Given the description of an element on the screen output the (x, y) to click on. 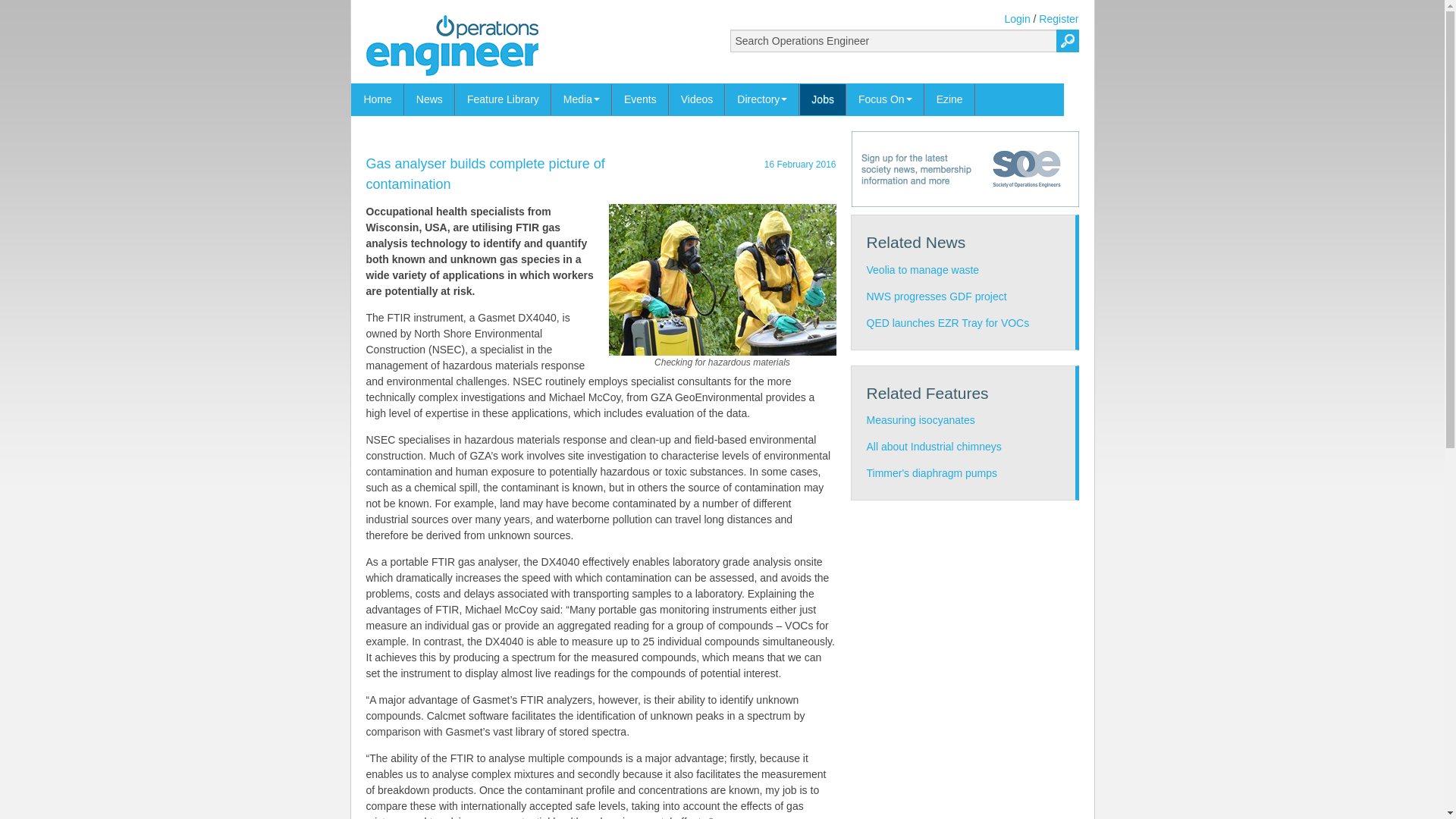
Register (1058, 19)
News (429, 99)
Search Operations Engineer (903, 40)
Videos (696, 99)
Media (581, 99)
Focus On (884, 99)
Checking for hazardous materials (721, 278)
Directory (762, 99)
Ezine (949, 99)
Feature Library (502, 99)
Home (378, 99)
Checking for hazardous materials (721, 279)
Login (1016, 19)
Events (639, 99)
Jobs (822, 99)
